Given the description of an element on the screen output the (x, y) to click on. 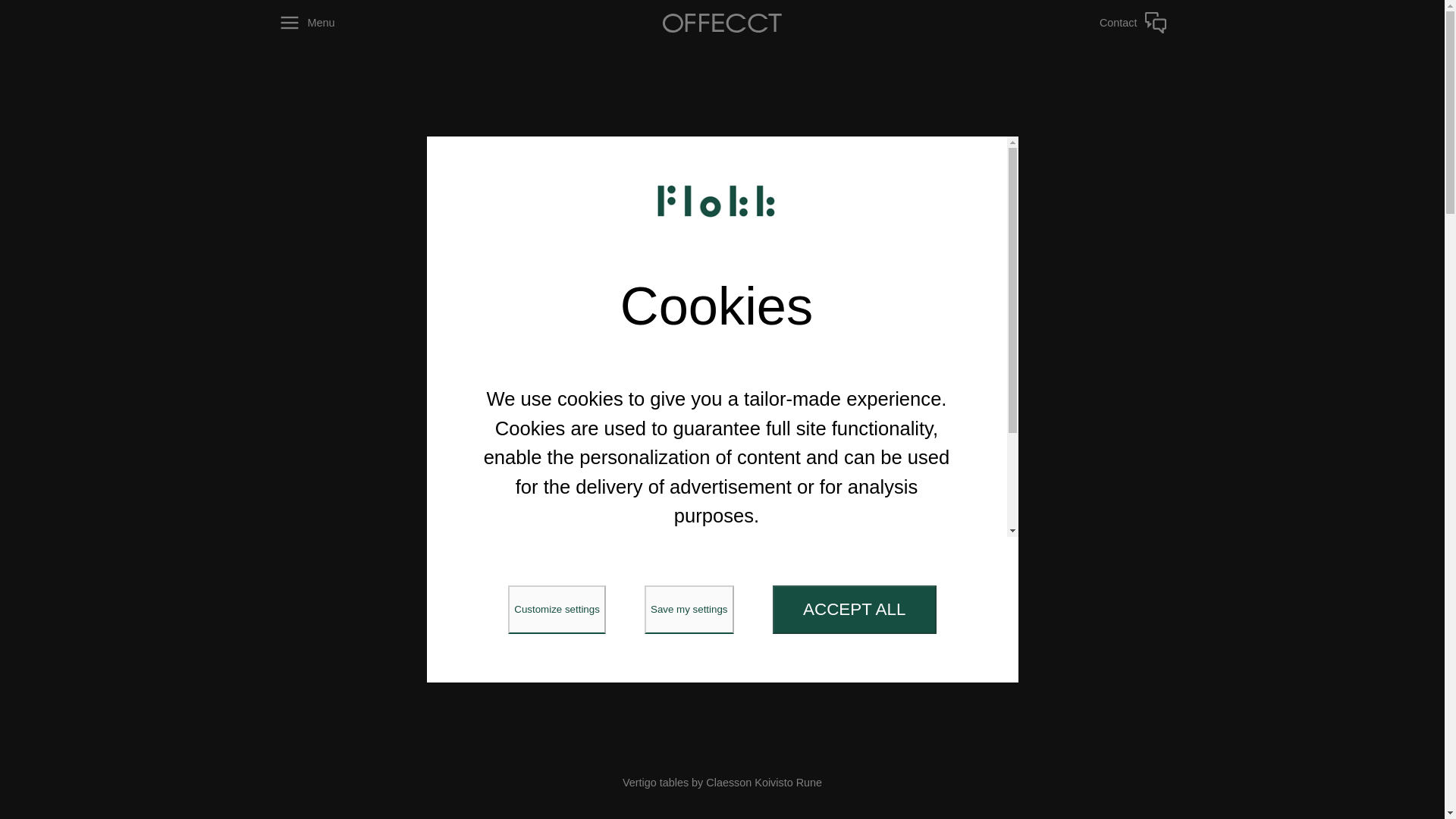
Contact us (1079, 22)
Save my settings (689, 609)
Menu (365, 22)
Read more about our Policies. (716, 602)
ACCEPT ALL (854, 609)
Contact (1079, 22)
Main menu (365, 22)
Customize settings (556, 609)
